Given the description of an element on the screen output the (x, y) to click on. 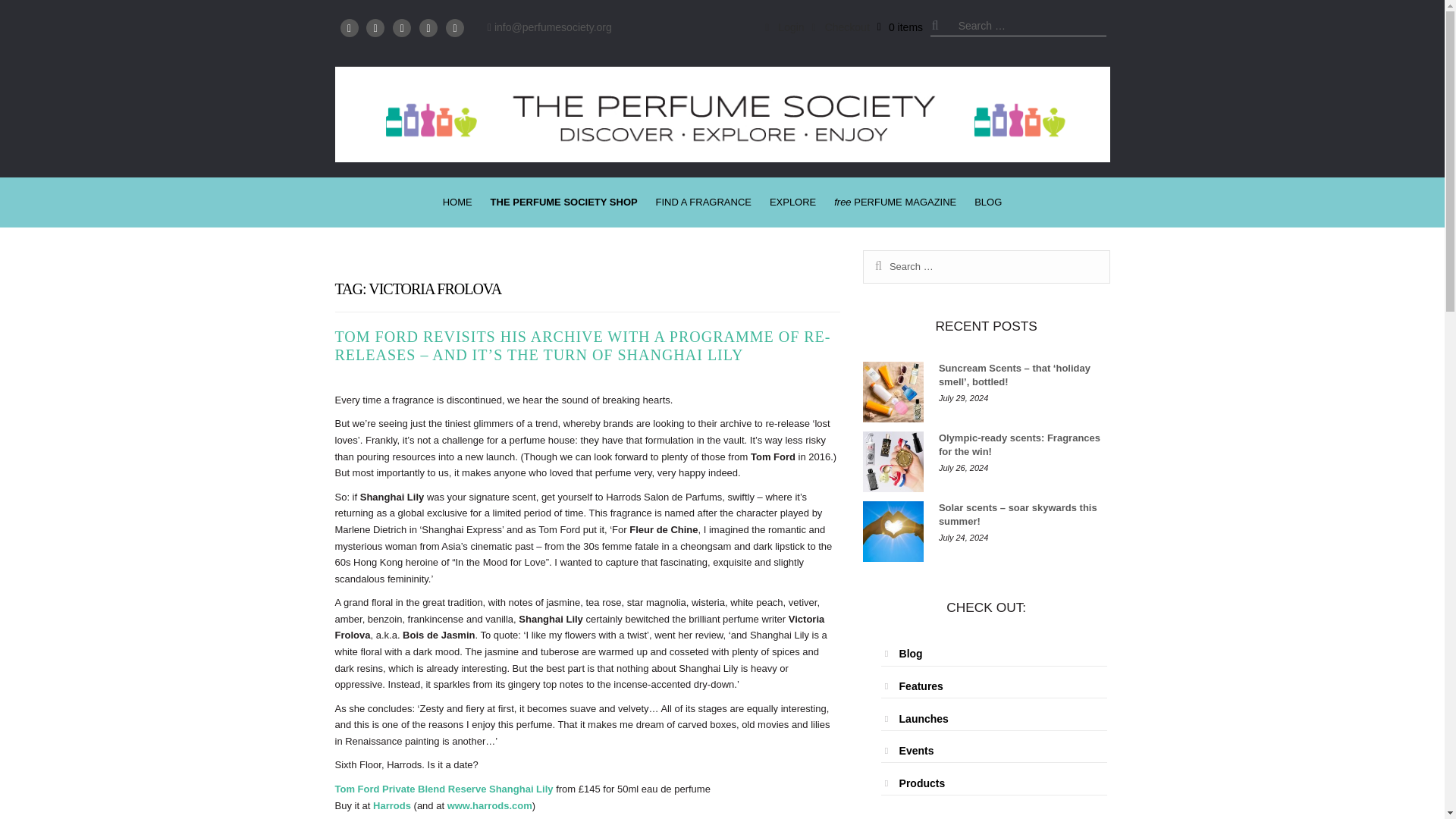
Olympic-ready scents: Fragrances for the win! (893, 461)
Login (784, 27)
0 items (900, 27)
THE PERFUME SOCIETY SHOP (563, 201)
View your shopping basket (900, 27)
Checkout (840, 27)
